Given the description of an element on the screen output the (x, y) to click on. 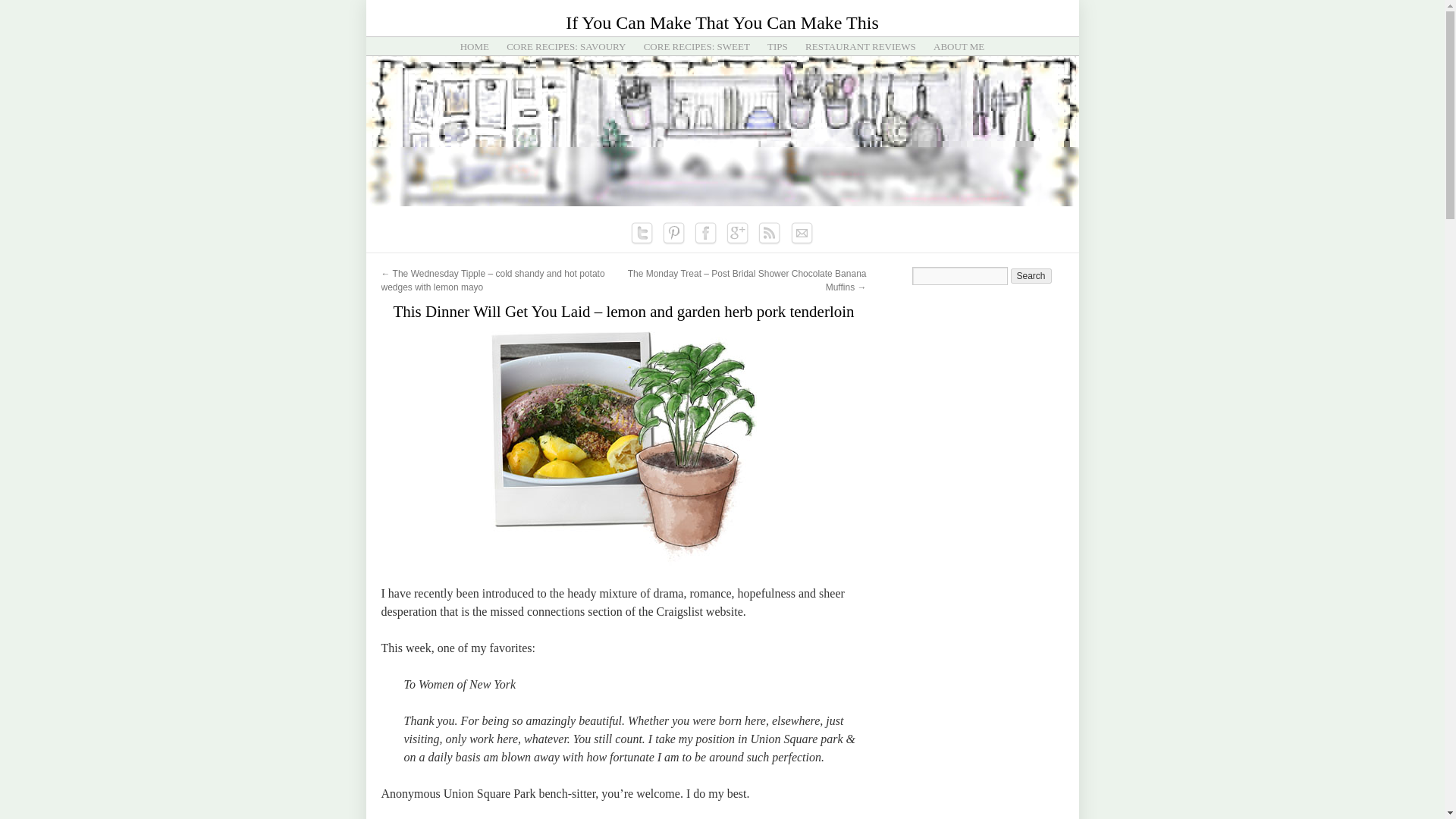
Search (1030, 275)
CORE RECIPES: SWEET (696, 46)
Email (801, 233)
ABOUT ME (958, 46)
Follow on Twitter (642, 233)
Follow on Pinterest (674, 233)
Follow on Twitter (642, 233)
HOME (474, 46)
If You Can Make That You Can Make This (721, 22)
RESTAURANT REVIEWS (860, 46)
Subscribe to RSS Feed (769, 233)
Follow on Facebook (706, 233)
CORE RECIPES: SAVOURY (566, 46)
Search (1030, 275)
If You Can Make That You Can Make This (721, 22)
